Given the description of an element on the screen output the (x, y) to click on. 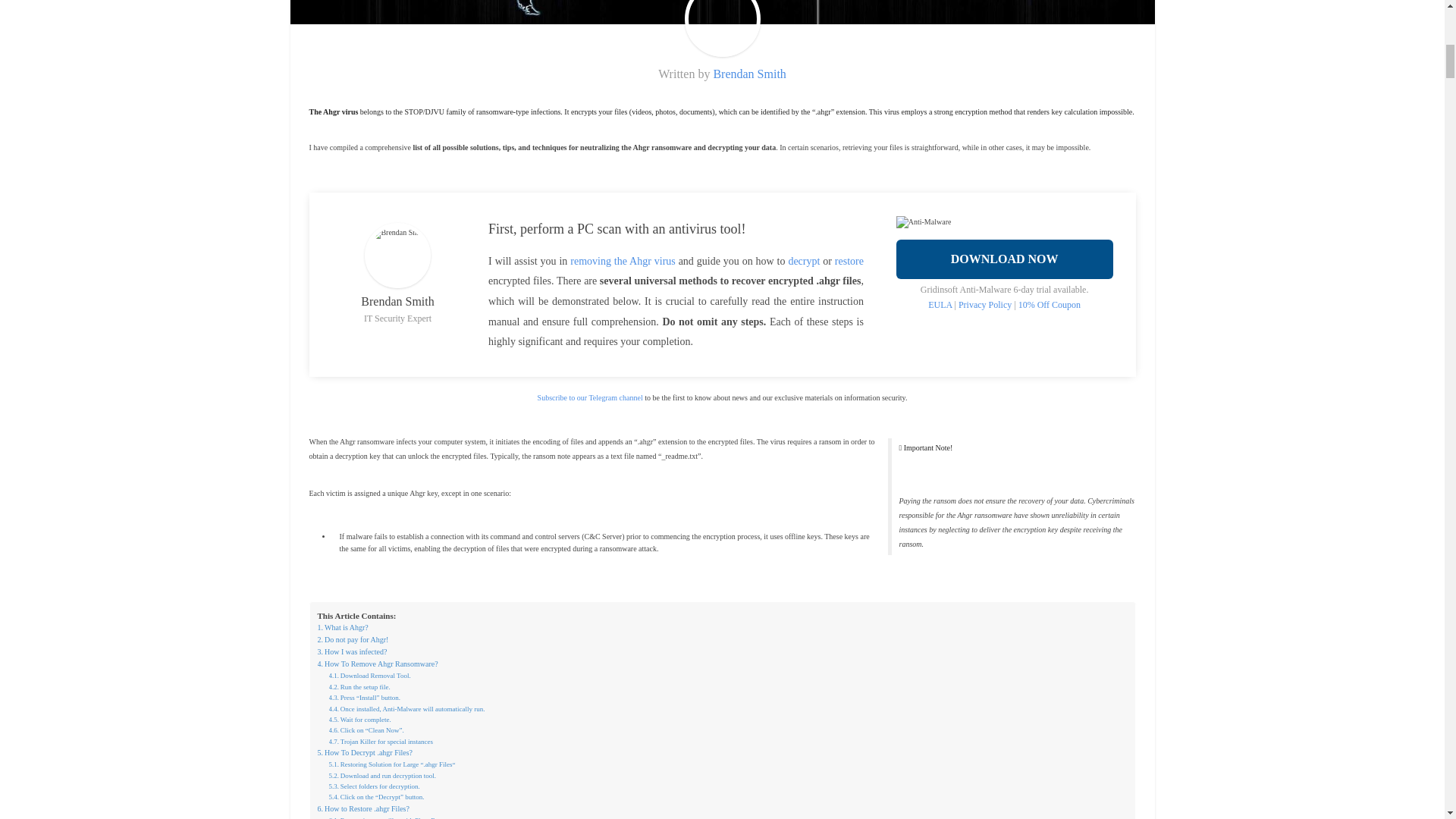
Subscribe to our Telegram channel (590, 397)
How I was infected? (352, 652)
Do not pay for Ahgr! (352, 639)
How I was infected? (352, 652)
What is Ahgr? (342, 627)
Trojan Killer for special instances (380, 741)
Privacy Policy (984, 304)
DOWNLOAD NOW (1004, 259)
Do not pay for Ahgr! (352, 639)
Gridinsoft (1048, 304)
Trojan Killer for special instances (380, 741)
Download Removal Tool. (369, 675)
Wait for complete. (360, 719)
Download Removal Tool. (369, 675)
How To Decrypt .ahgr Files? (364, 752)
